Given the description of an element on the screen output the (x, y) to click on. 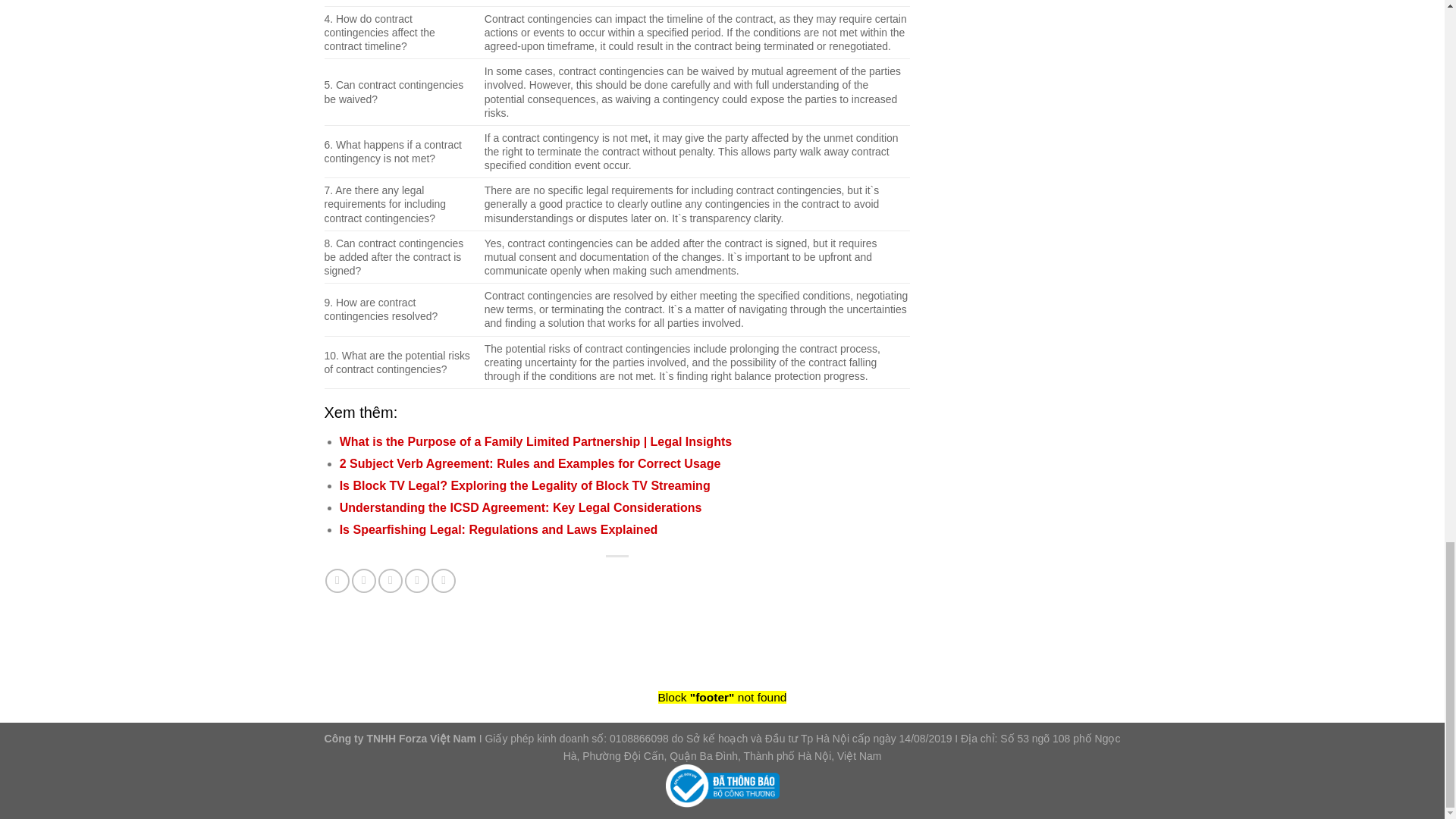
Share on LinkedIn (442, 580)
Email to a Friend (390, 580)
Pin on Pinterest (416, 580)
Share on Twitter (363, 580)
Understanding the ICSD Agreement: Key Legal Considerations (520, 507)
Share on Facebook (336, 580)
Is Spearfishing Legal: Regulations and Laws Explained (498, 529)
